Given the description of an element on the screen output the (x, y) to click on. 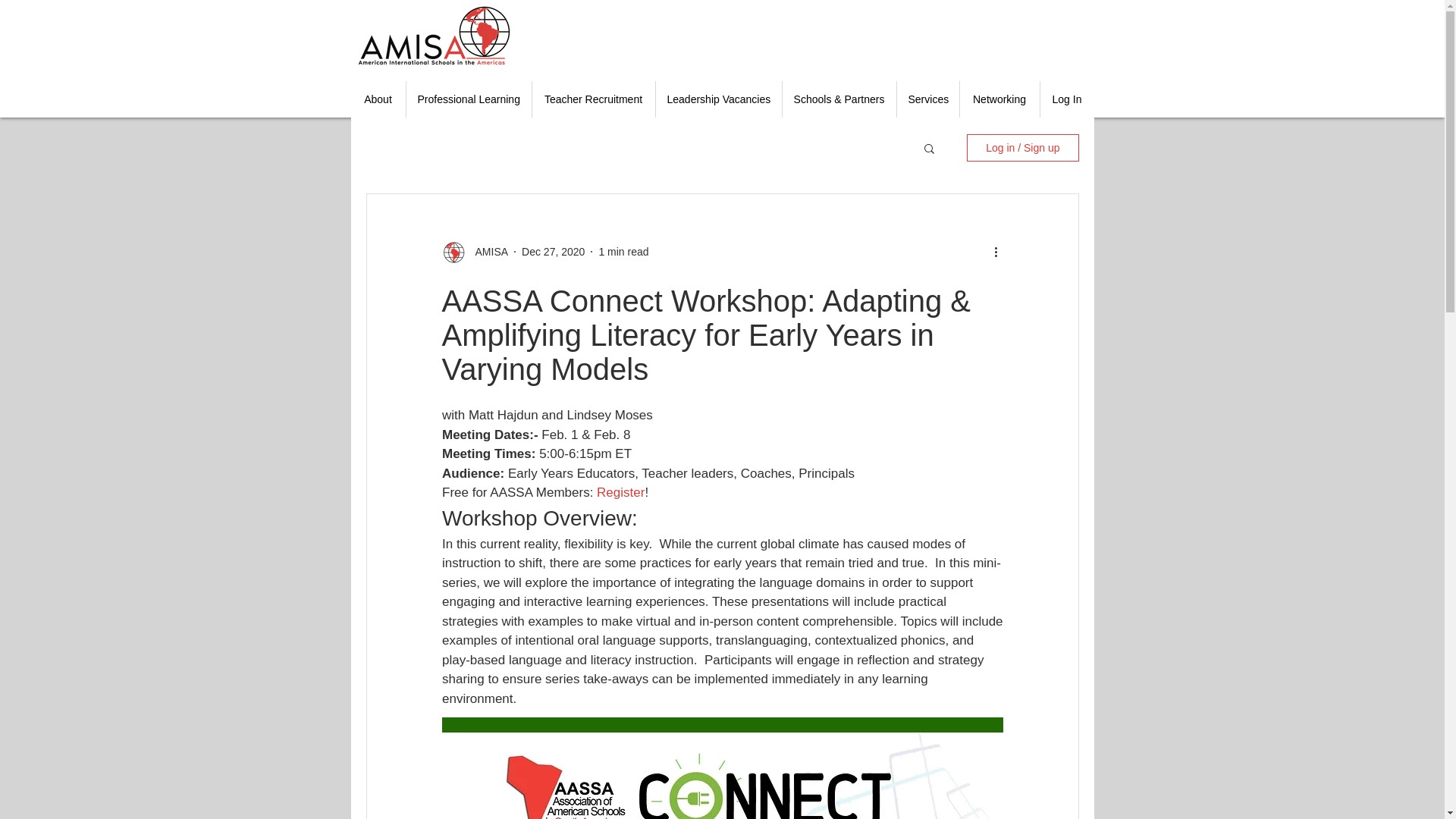
AMISA-logo-transparent.png (433, 35)
Dec 27, 2020 (553, 251)
AMISA (486, 252)
1 min read (622, 251)
